Given the description of an element on the screen output the (x, y) to click on. 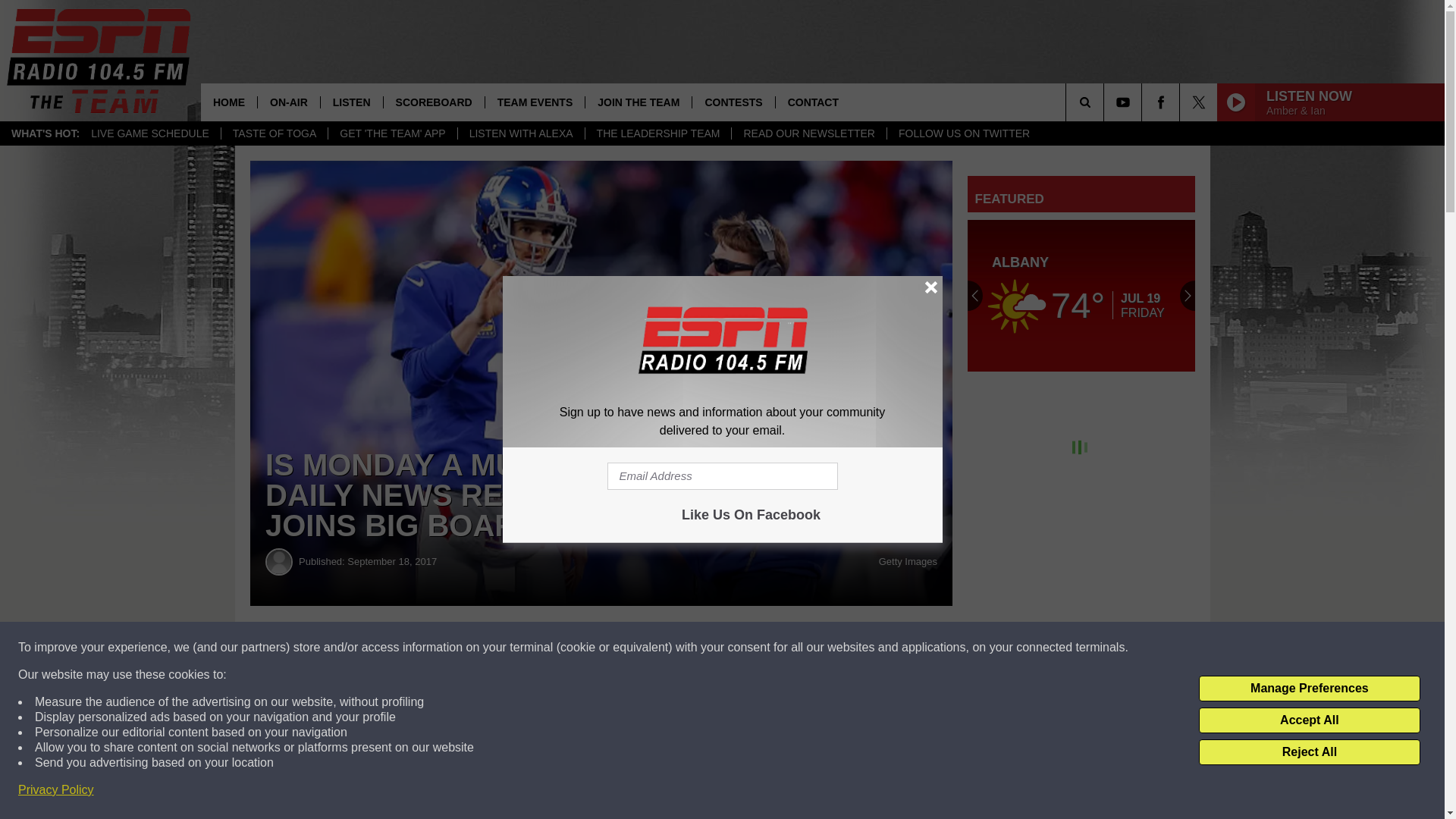
LIVE GAME SCHEDULE (150, 133)
LISTEN WITH ALEXA (521, 133)
JOIN THE TEAM (638, 102)
FOLLOW US ON TWITTER (963, 133)
Privacy Policy (55, 789)
SCOREBOARD (433, 102)
READ OUR NEWSLETTER (807, 133)
TEAM EVENTS (534, 102)
Share on Twitter (741, 647)
TASTE OF TOGA (274, 133)
CONTESTS (732, 102)
Share on Facebook (460, 647)
LISTEN (351, 102)
SEARCH (1106, 102)
Albany Weather (1081, 295)
